Given the description of an element on the screen output the (x, y) to click on. 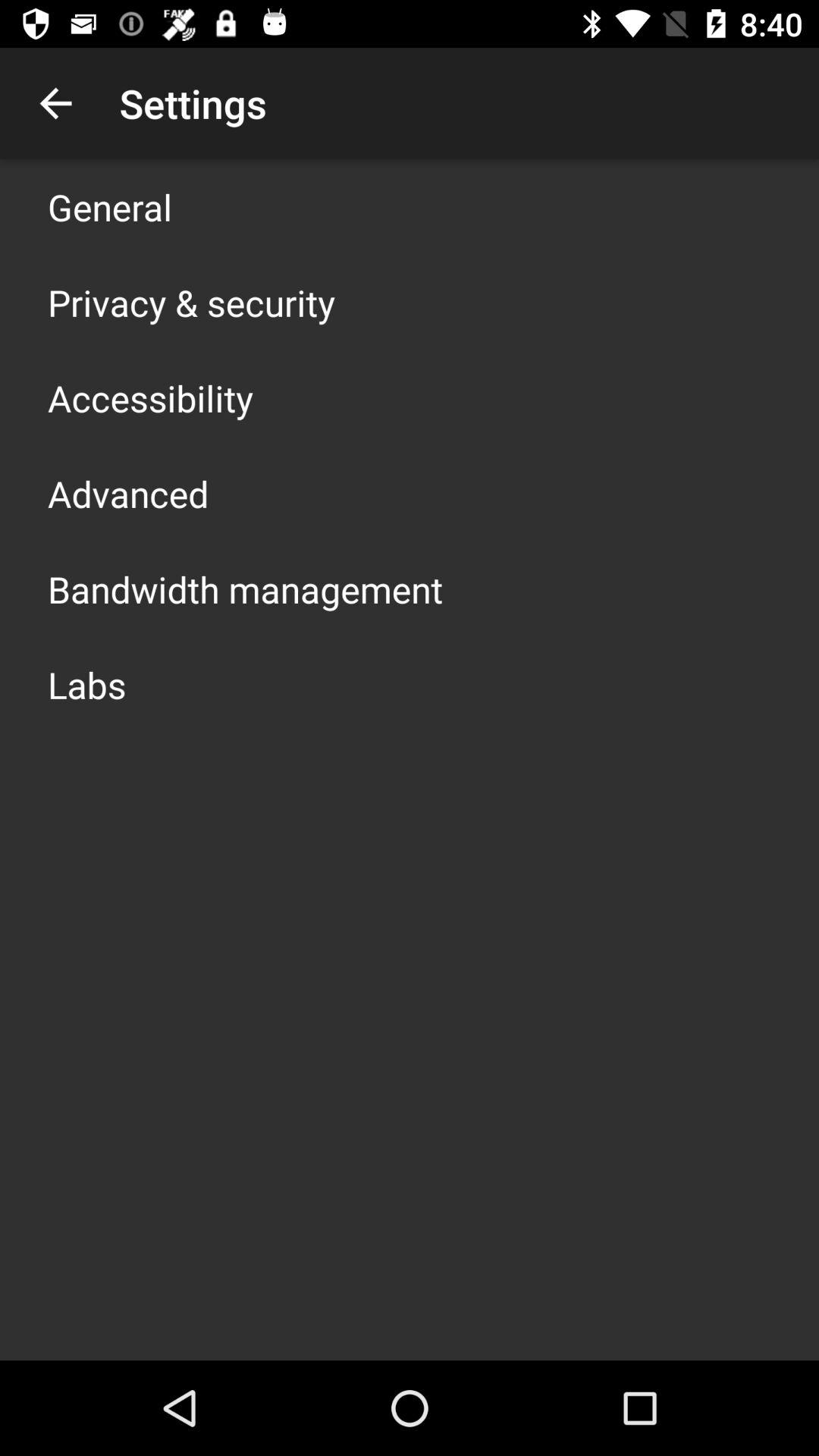
tap the app above the bandwidth management item (127, 493)
